Given the description of an element on the screen output the (x, y) to click on. 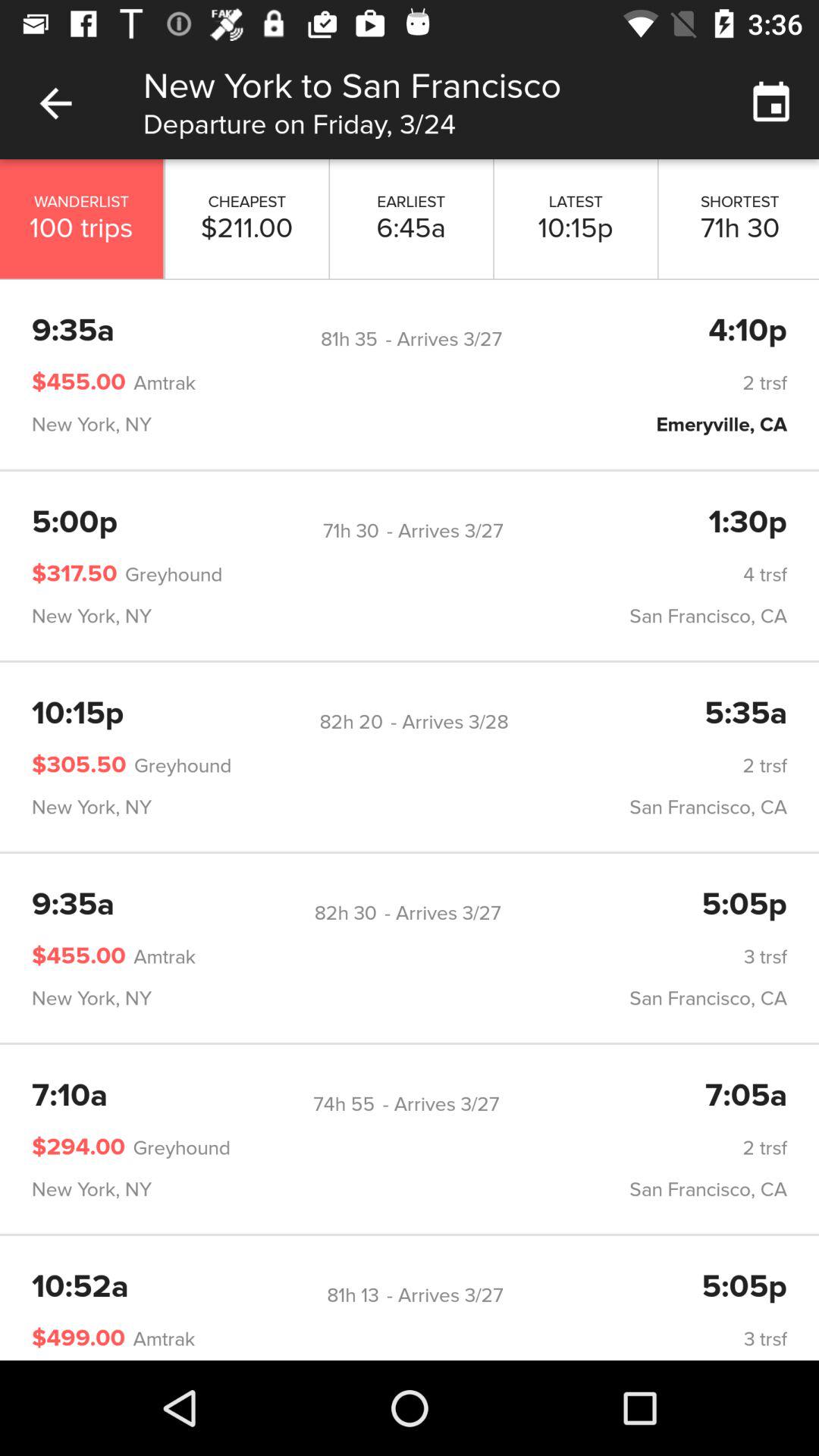
press icon next to - arrives 3/27 icon (343, 1104)
